Given the description of an element on the screen output the (x, y) to click on. 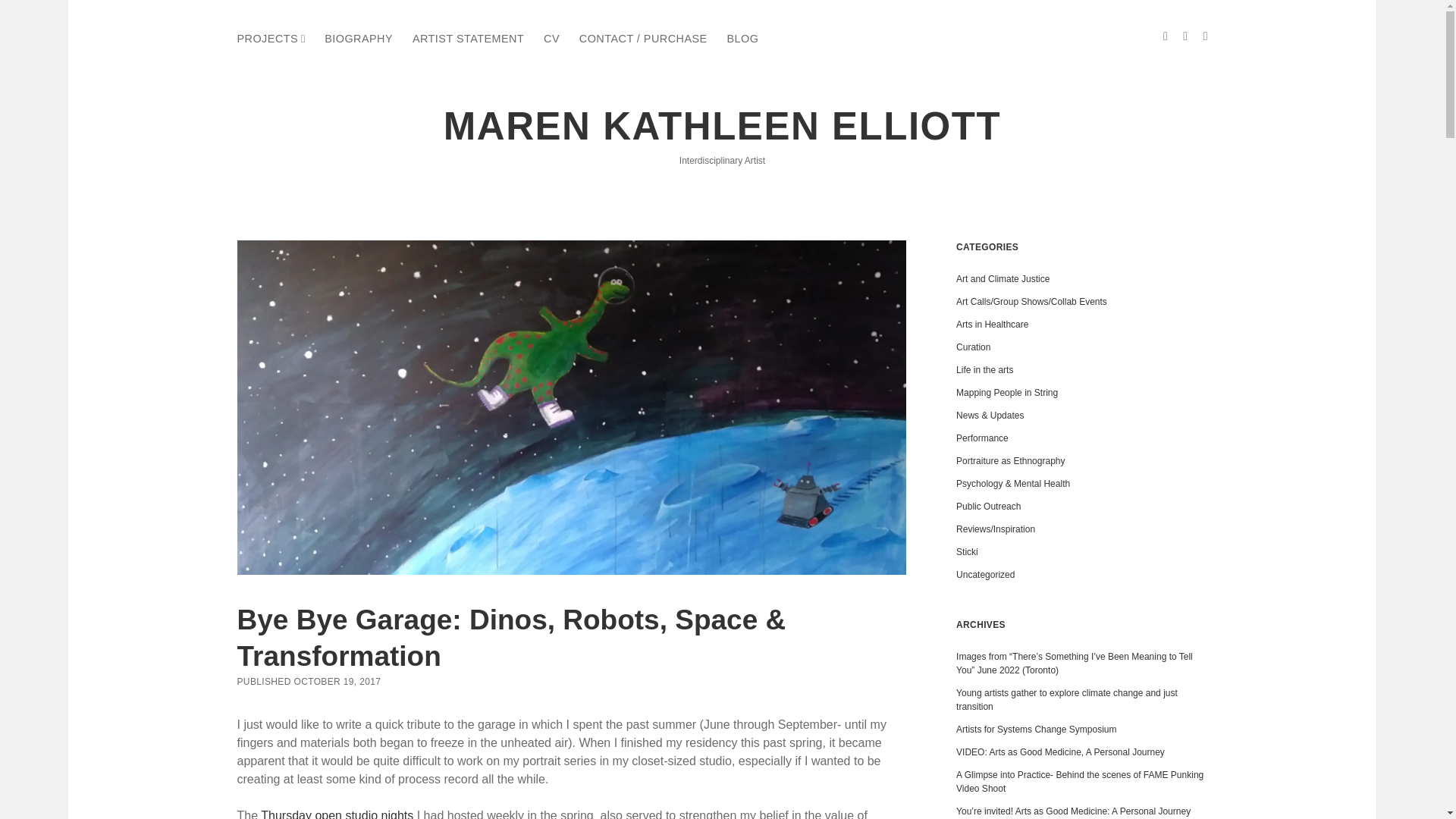
BLOG (742, 39)
MAREN KATHLEEN ELLIOTT (722, 126)
ARTIST STATEMENT (468, 39)
PROJECTS (266, 39)
CV (551, 39)
Thursday open studio nights (336, 814)
BIOGRAPHY (358, 39)
